Given the description of an element on the screen output the (x, y) to click on. 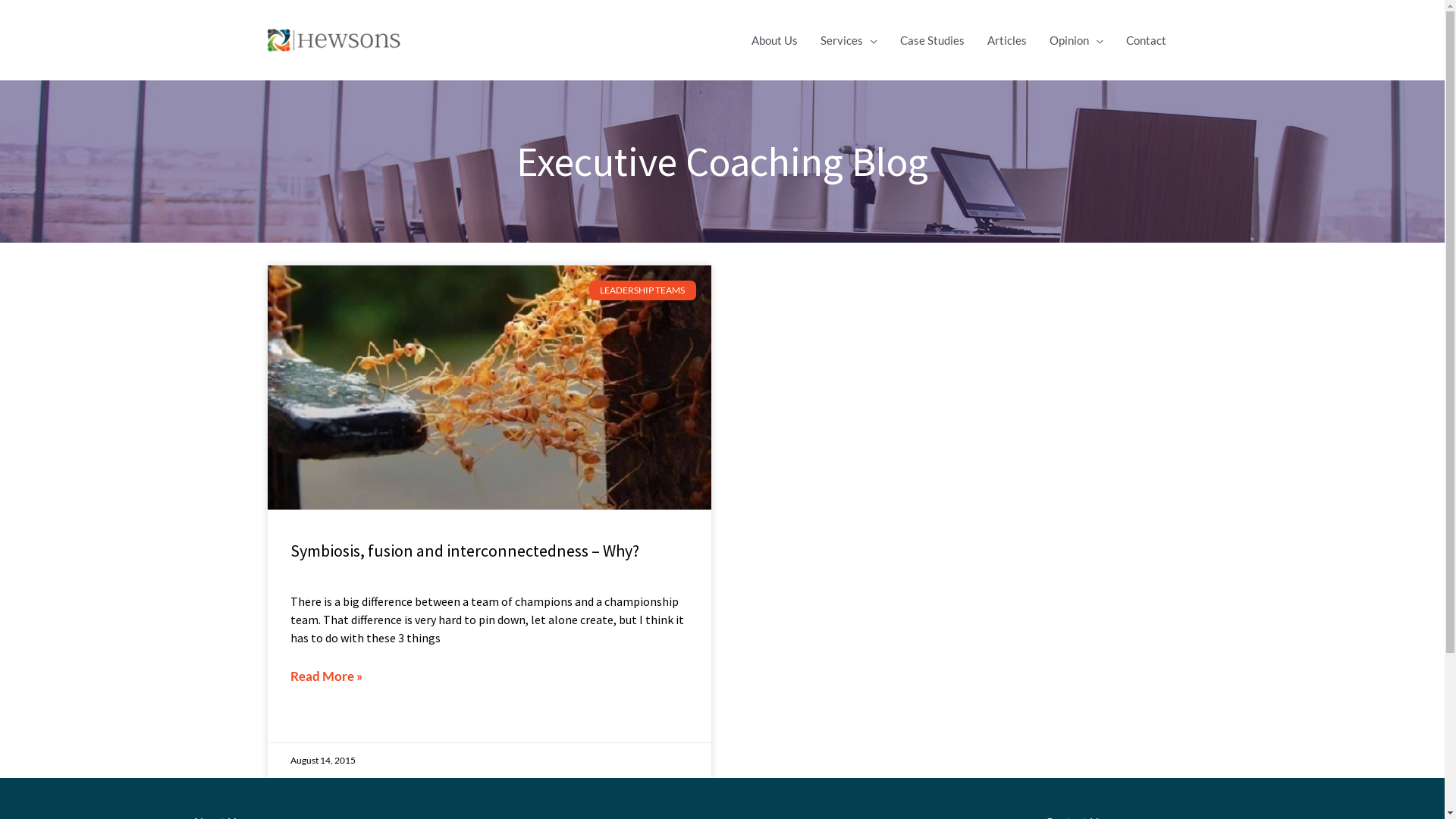
Contact Element type: text (1145, 39)
Articles Element type: text (1006, 39)
About Us Element type: text (774, 39)
Opinion Element type: text (1075, 39)
Case Studies Element type: text (931, 39)
Services Element type: text (848, 39)
